Given the description of an element on the screen output the (x, y) to click on. 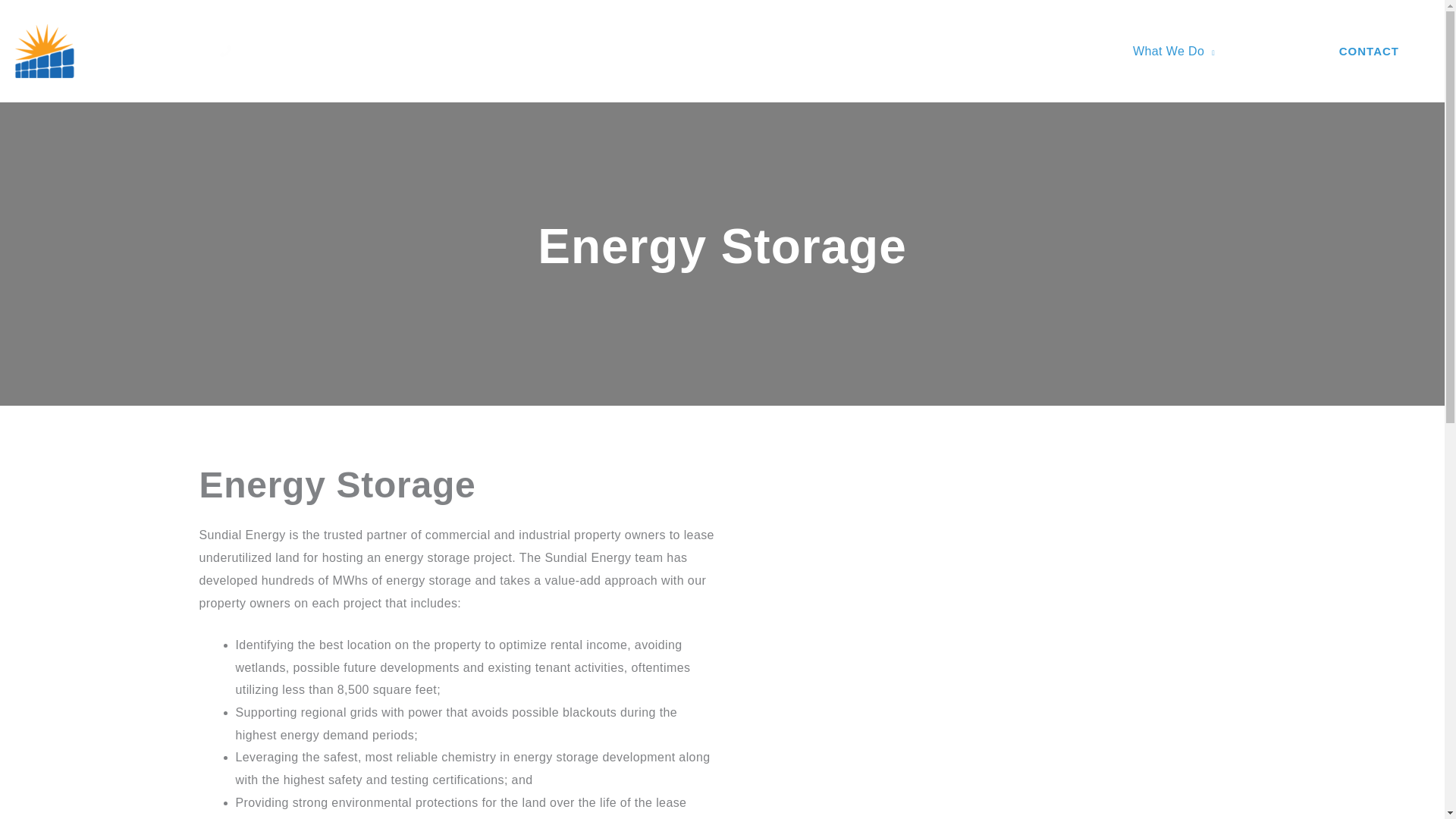
CONTACT (1368, 51)
What We Do (1174, 50)
FAQs (1260, 50)
